Given the description of an element on the screen output the (x, y) to click on. 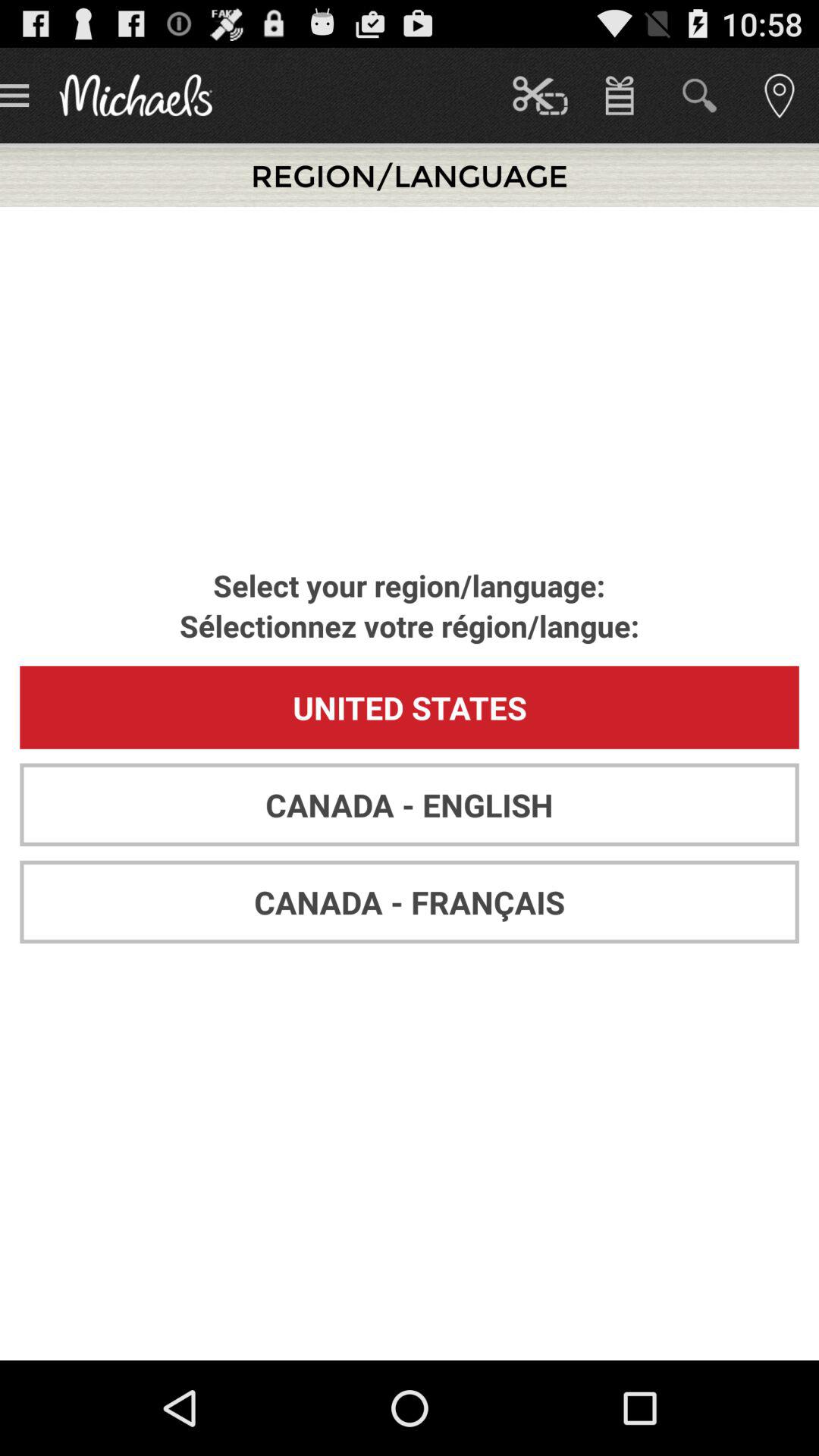
swipe until canada - english app (409, 804)
